Given the description of an element on the screen output the (x, y) to click on. 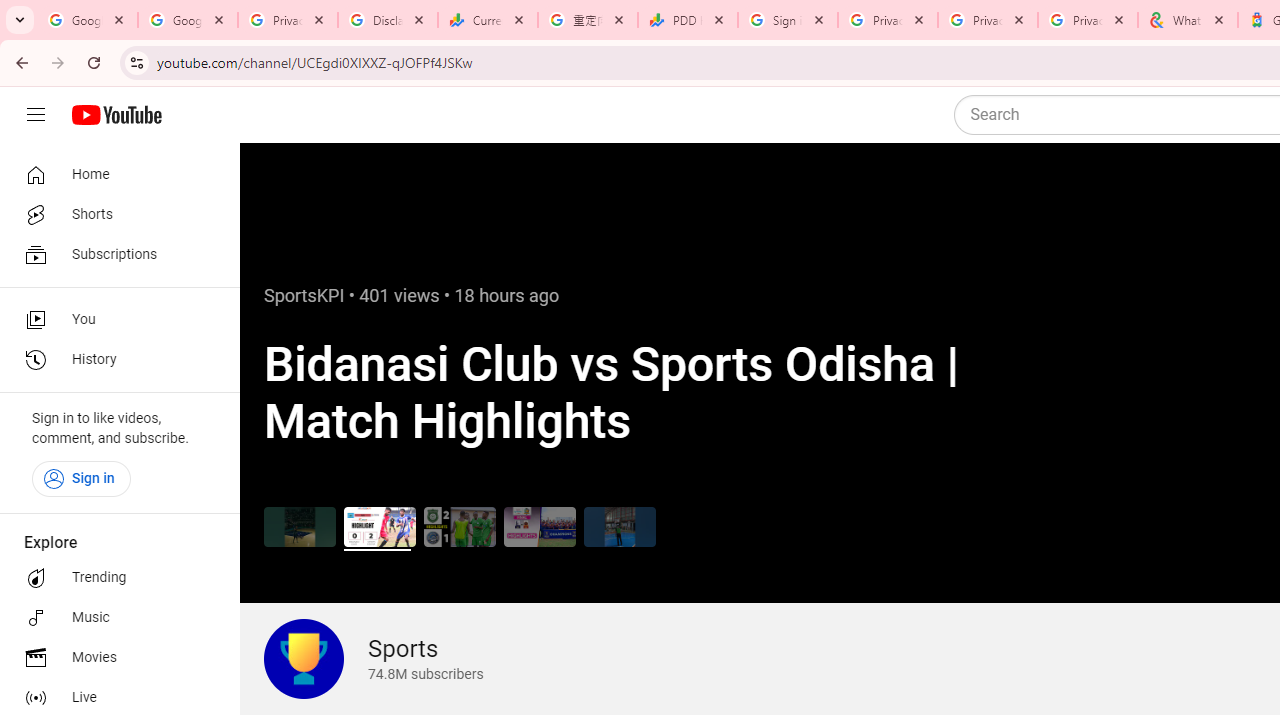
Subscriptions (113, 254)
Trending (113, 578)
Privacy Checkup (1087, 20)
Sports 74.8 million subscribers (373, 659)
History (113, 359)
Privacy Checkup (988, 20)
Guide (35, 115)
